Given the description of an element on the screen output the (x, y) to click on. 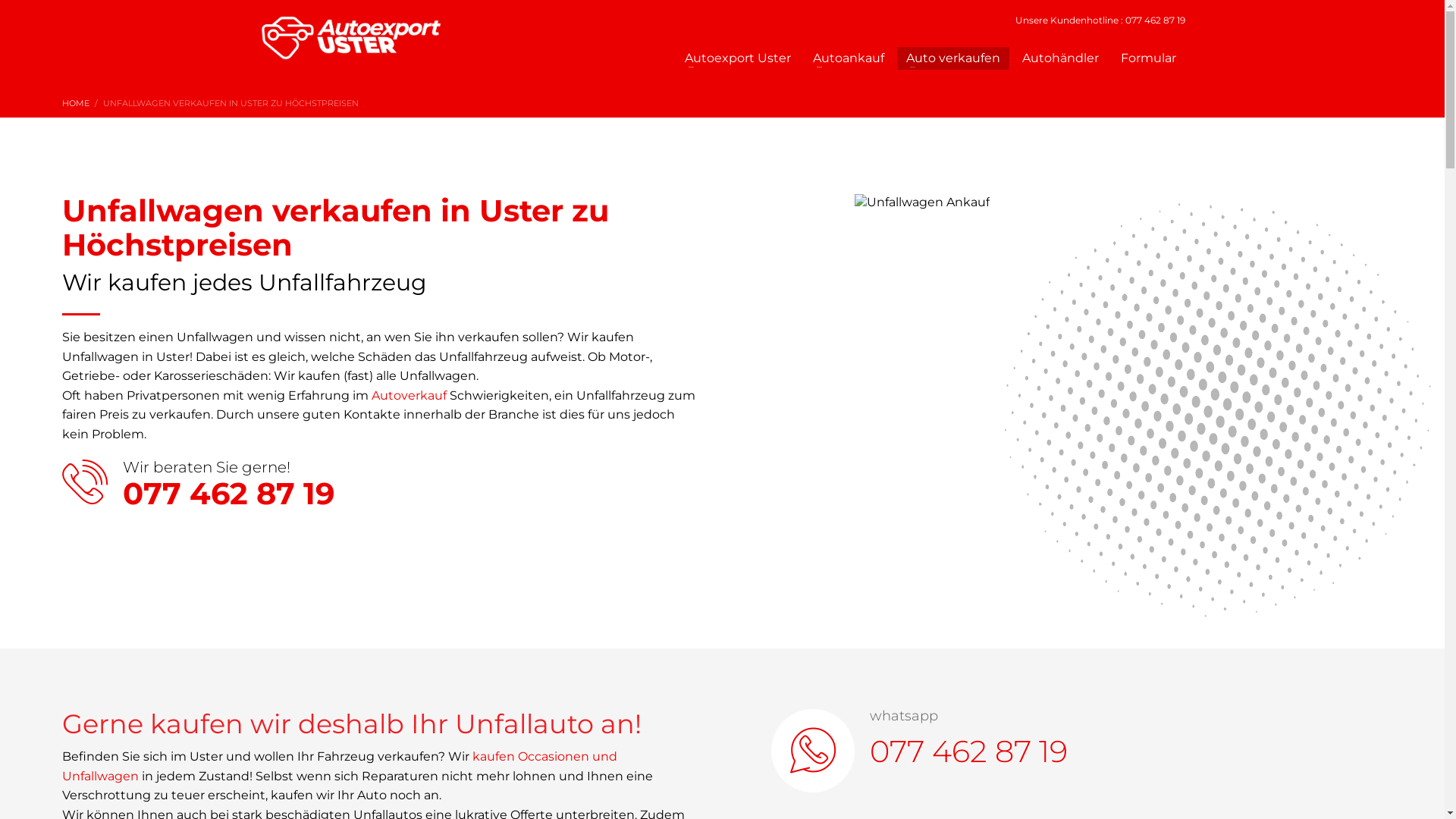
Autoverkauf Element type: text (408, 395)
Unfallwagen Ankauf Element type: hover (1118, 382)
Autoexport Uster Element type: text (736, 58)
Autoankauf Element type: text (848, 58)
077 462 87 19 Element type: text (968, 750)
kaufen Occasionen und Unfallwagen Element type: text (339, 766)
Auto verkaufen Element type: text (952, 58)
Formular Element type: text (1148, 58)
HOME Element type: text (75, 102)
